Given the description of an element on the screen output the (x, y) to click on. 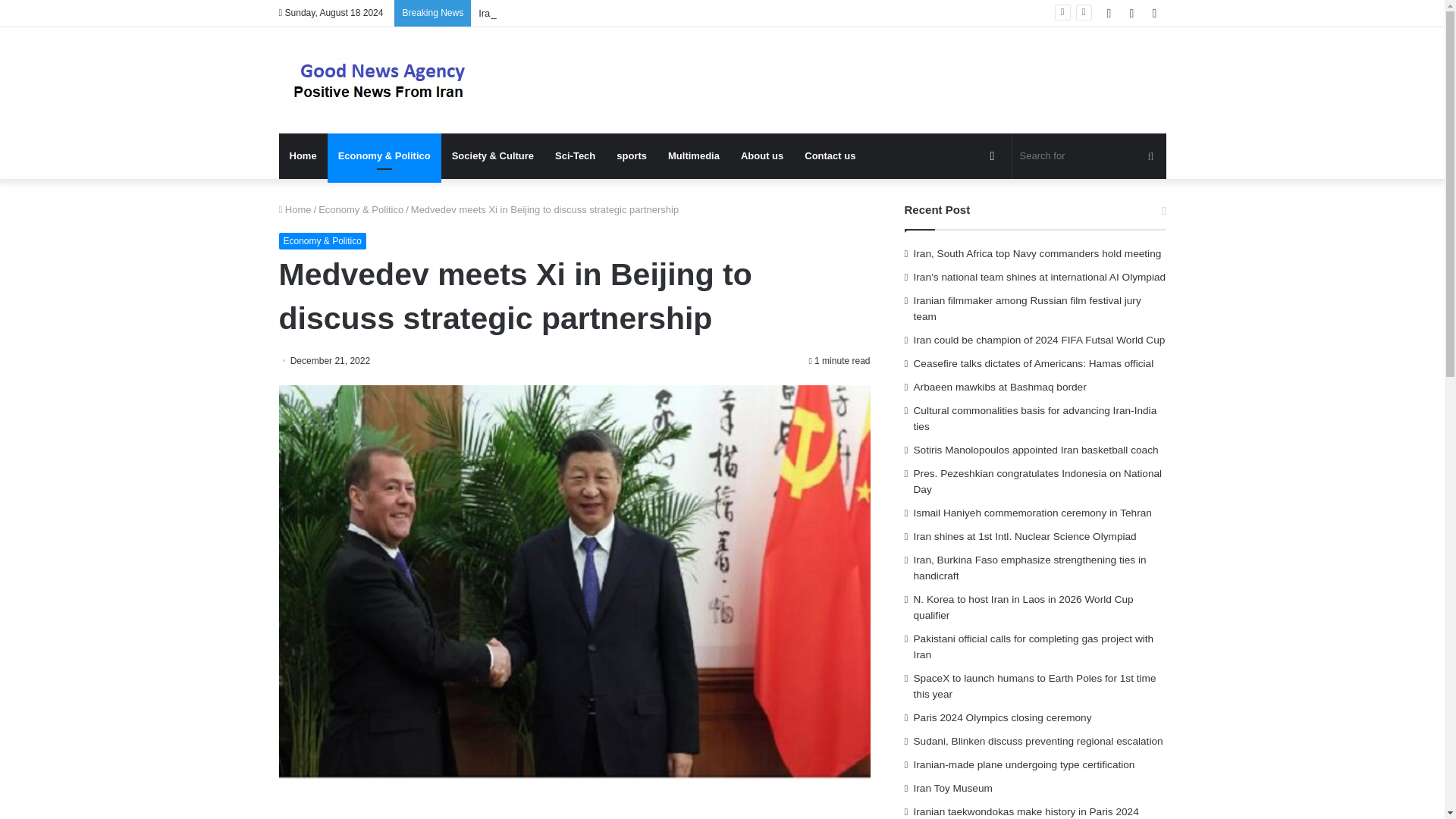
Contact us (829, 156)
Search for (1088, 156)
Home (303, 156)
Sci-Tech (574, 156)
sports (631, 156)
good news agency (384, 80)
About us (761, 156)
Home (295, 209)
Multimedia (694, 156)
